Given the description of an element on the screen output the (x, y) to click on. 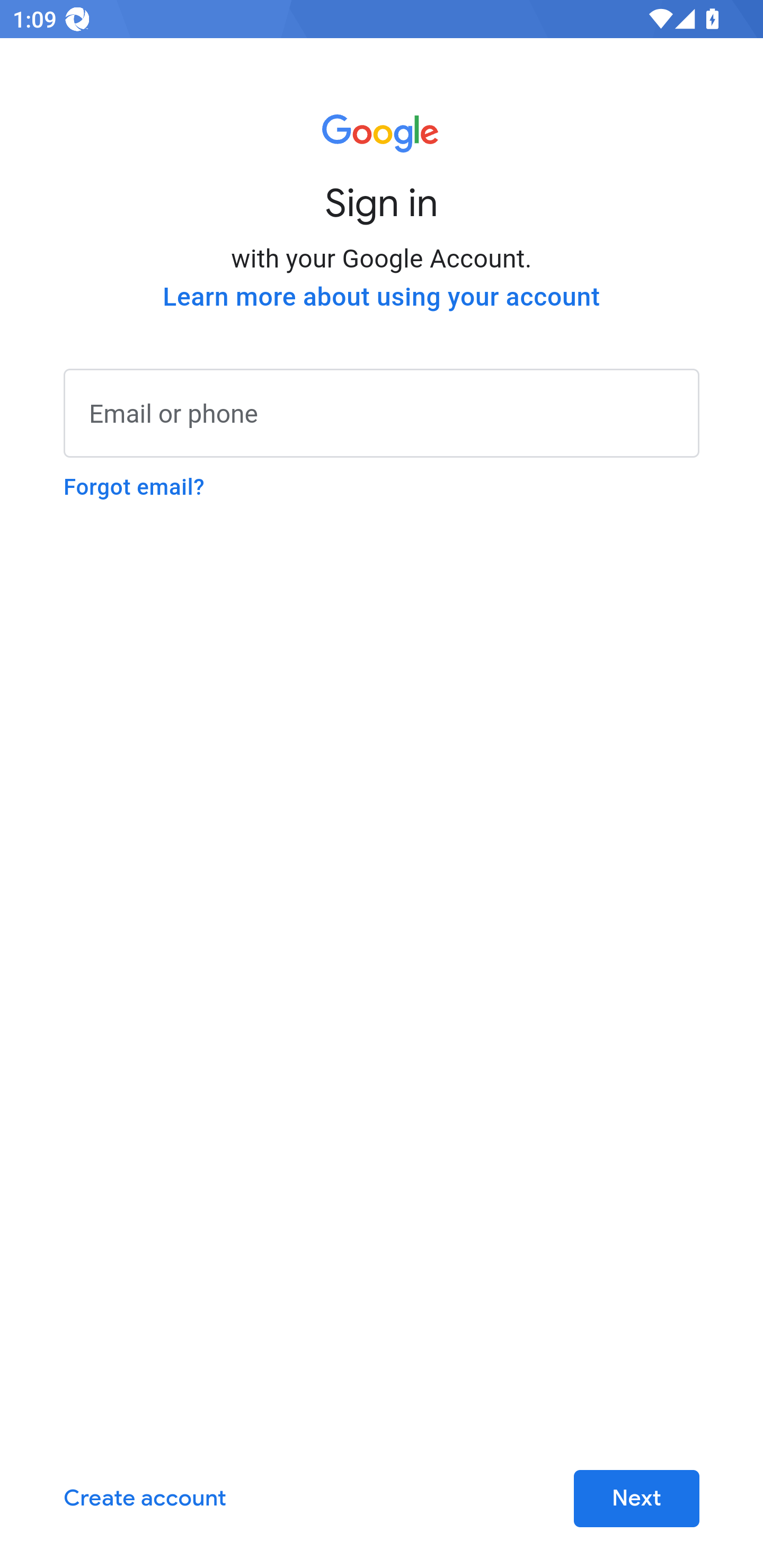
Learn more about using your account (381, 296)
Forgot email? (133, 486)
Create account (145, 1498)
Next (635, 1498)
